Given the description of an element on the screen output the (x, y) to click on. 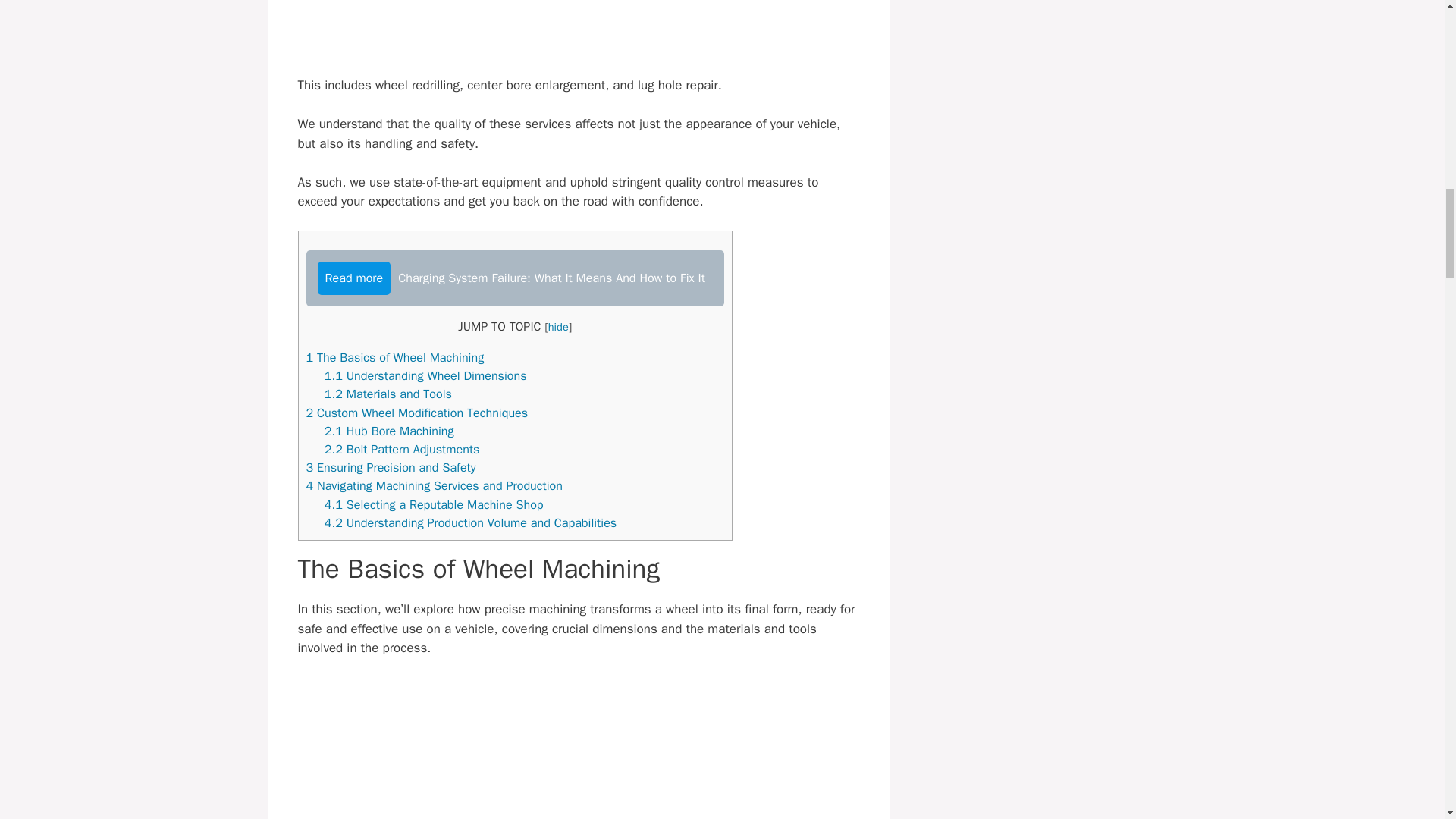
hide (558, 326)
2.2 Bolt Pattern Adjustments (402, 449)
3 Ensuring Precision and Safety (390, 467)
1 The Basics of Wheel Machining (394, 357)
1.1 Understanding Wheel Dimensions (425, 375)
2 Custom Wheel Modification Techniques (416, 412)
1.2 Materials and Tools (387, 393)
2.1 Hub Bore Machining (389, 430)
